Given the description of an element on the screen output the (x, y) to click on. 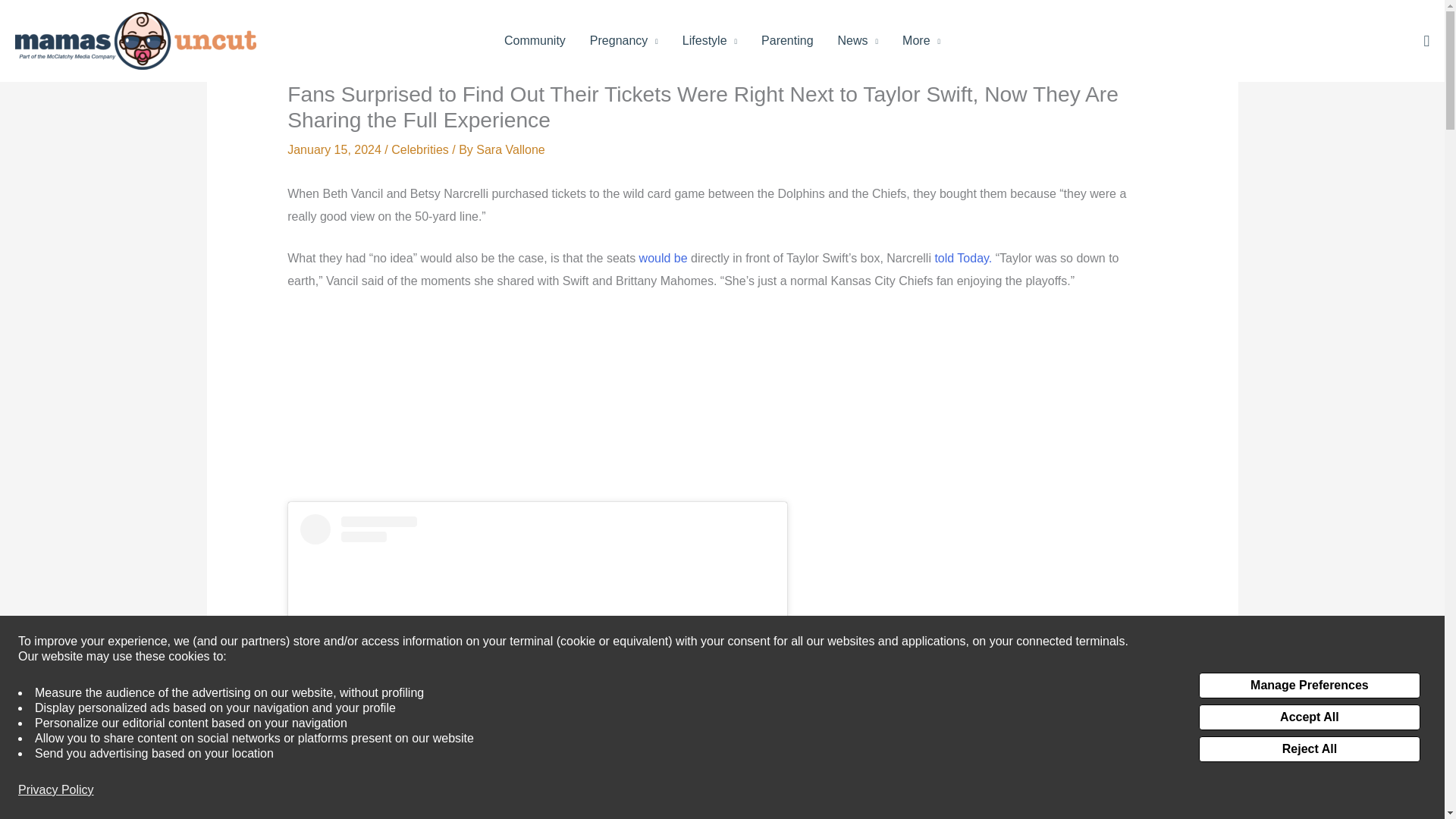
Lifestyle (709, 40)
News (858, 40)
Privacy Policy (55, 789)
View all posts by Sara Vallone (510, 149)
Accept All (1309, 717)
Manage Preferences (1309, 685)
Parenting (787, 40)
Community (535, 40)
Pregnancy (623, 40)
Reject All (1309, 749)
